Given the description of an element on the screen output the (x, y) to click on. 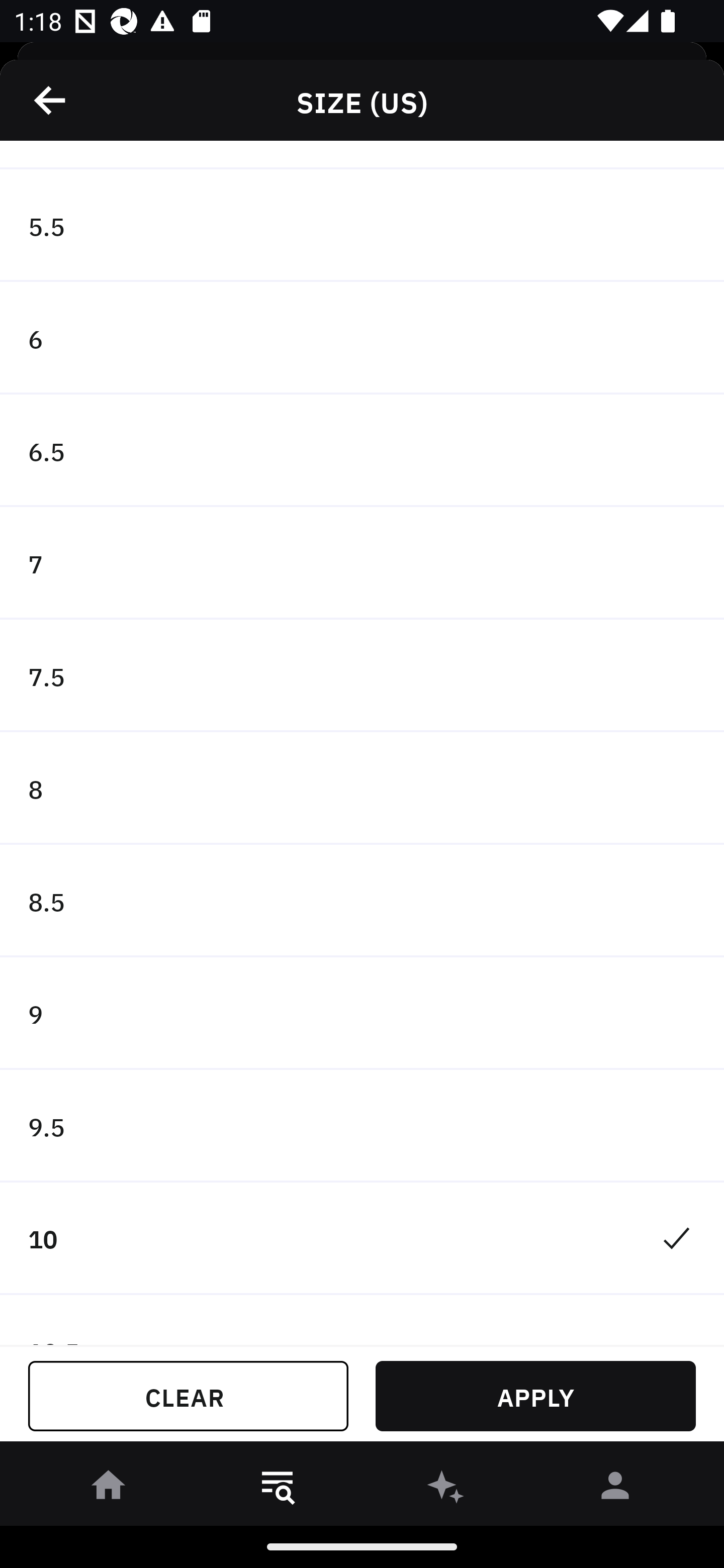
 (50, 100)
5.5 (362, 225)
6 (362, 338)
6.5 (362, 450)
7 (362, 562)
7.5 (362, 675)
8 (362, 788)
8.5 (362, 901)
9 (362, 1013)
9.5 (362, 1125)
10  (362, 1238)
CLEAR  (188, 1396)
APPLY (535, 1396)
󰋜 (108, 1488)
󱎸 (277, 1488)
󰫢 (446, 1488)
󰀄 (615, 1488)
